Given the description of an element on the screen output the (x, y) to click on. 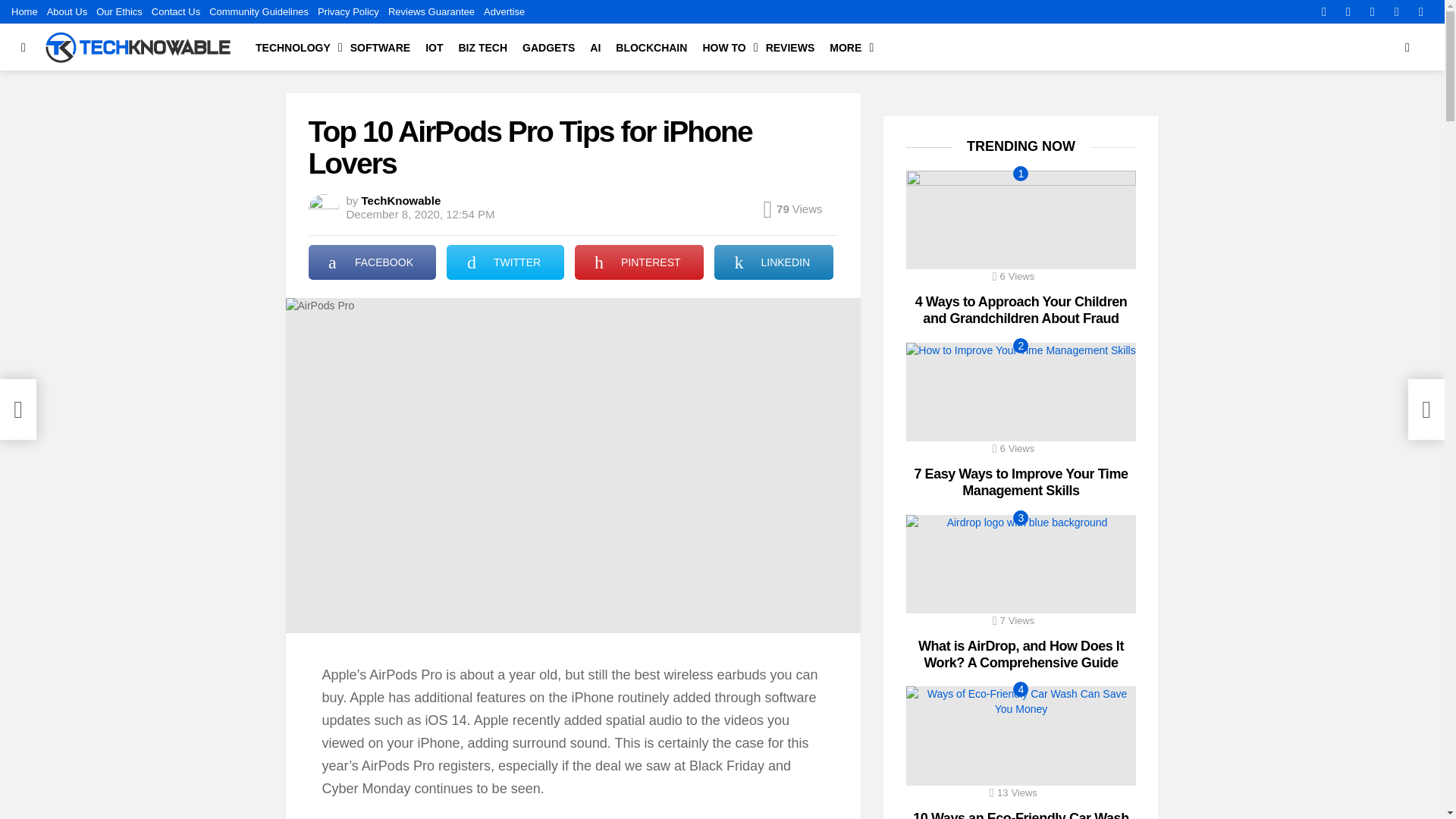
Facebook (1323, 11)
Privacy Policy (347, 12)
SOFTWARE (379, 47)
AI (595, 47)
Contact Us (175, 12)
Our Ethics (119, 12)
GADGETS (548, 47)
BIZ TECH (482, 47)
About Us (66, 12)
Menu (22, 46)
